Given the description of an element on the screen output the (x, y) to click on. 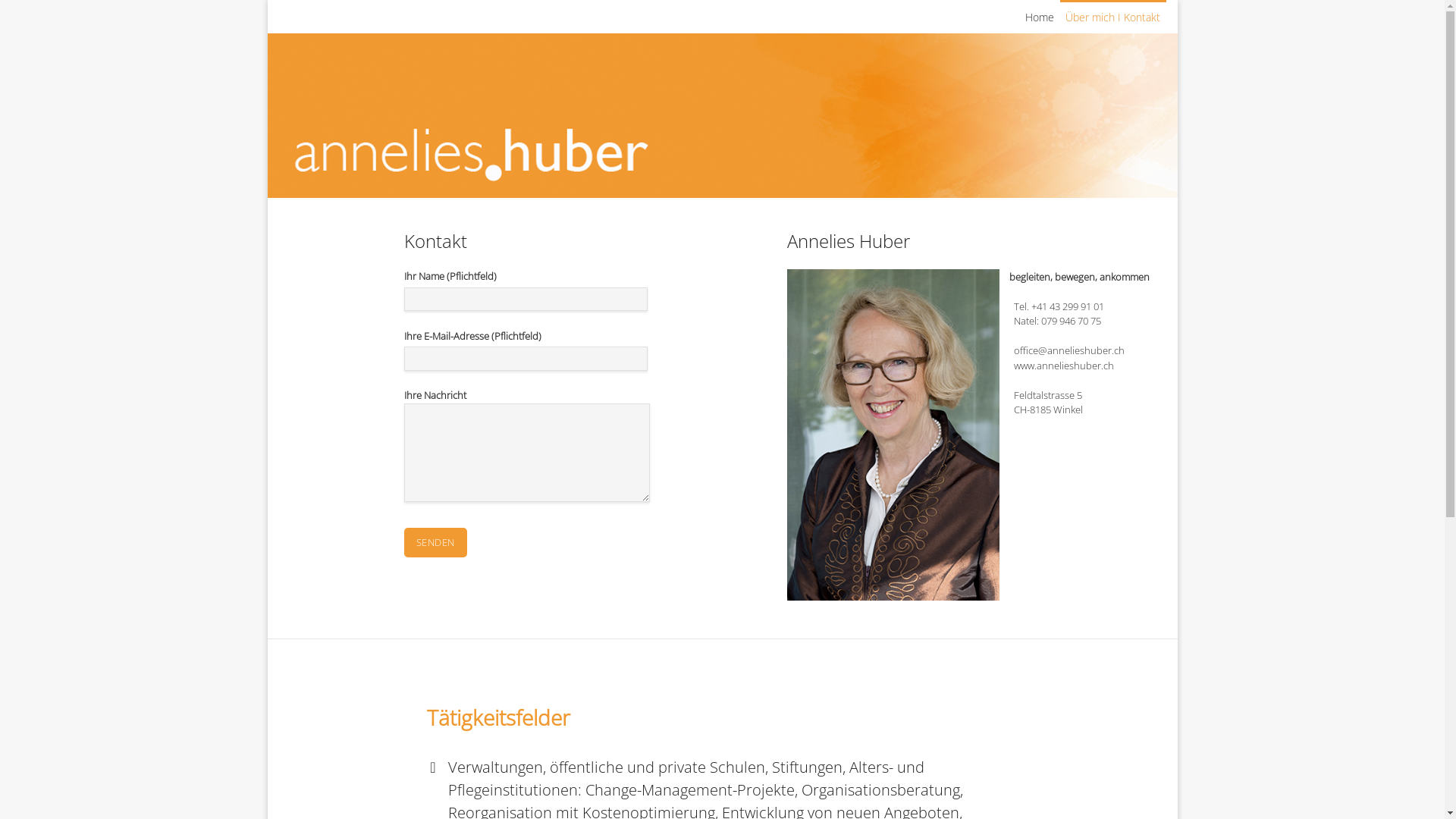
Senden Element type: text (434, 542)
Home Element type: text (1039, 17)
Annelies Huber - begleiten, bewegen, ankommen Element type: hover (721, 115)
Skip to content Element type: text (266, 0)
